Given the description of an element on the screen output the (x, y) to click on. 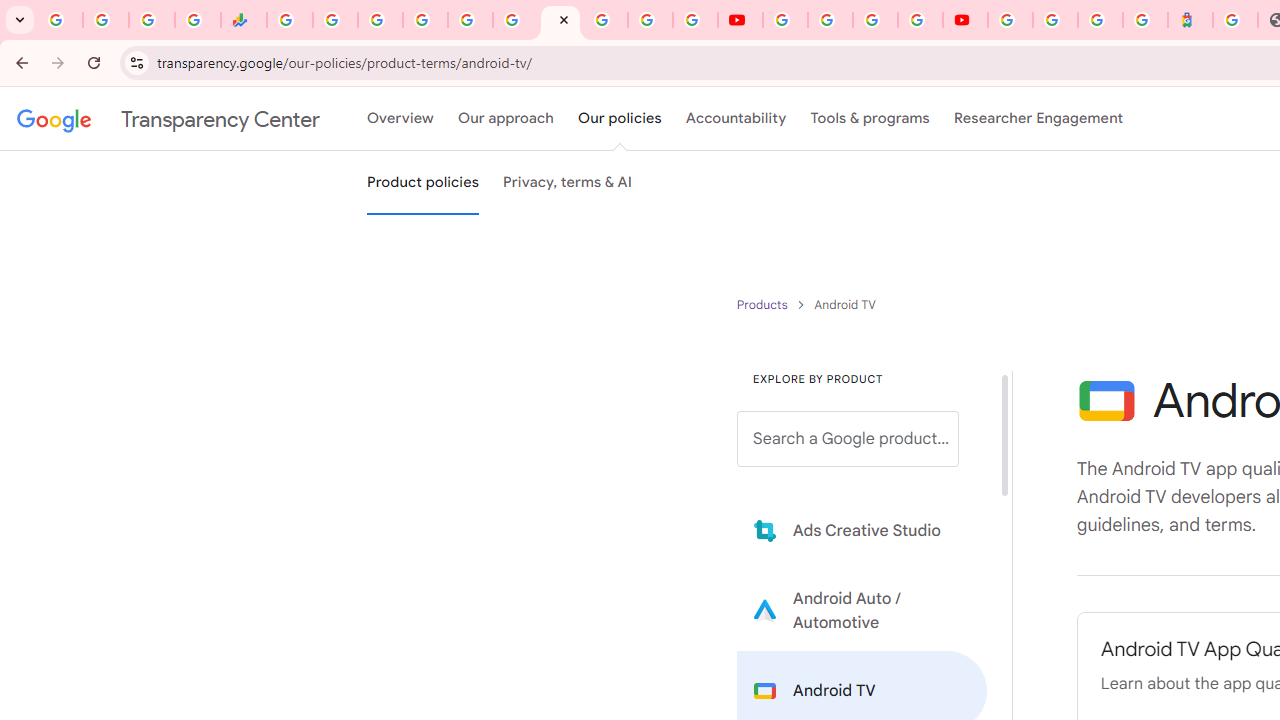
Our policies (619, 119)
